Given the description of an element on the screen output the (x, y) to click on. 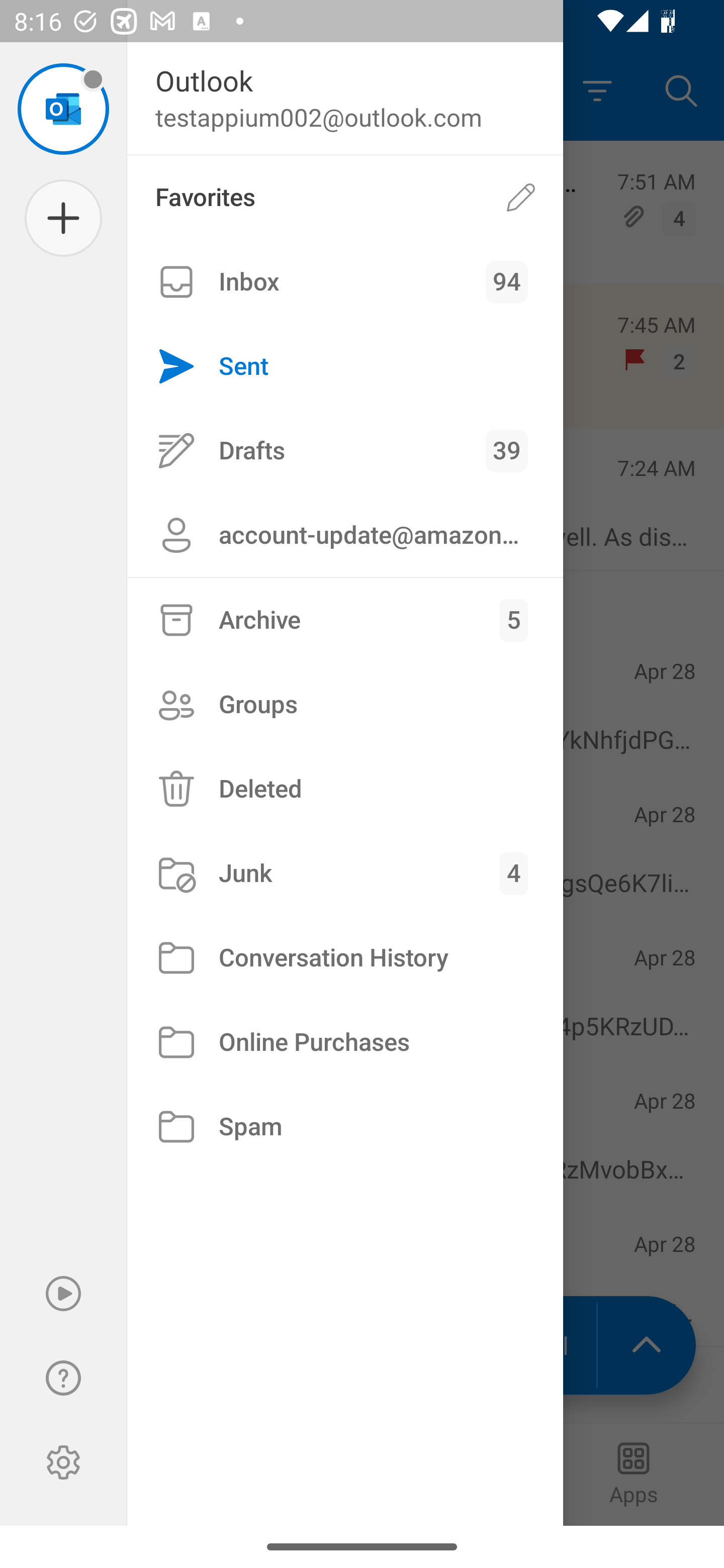
Edit favorites (520, 197)
Add account (63, 217)
Inbox Inbox, 94 unread emails (345, 281)
Sent Sent,Selected (345, 366)
Drafts Drafts, 39 unread emails (345, 450)
account-update@amazon.com (345, 534)
Archive Archive, 2 of 8, level 1, 5 unread emails (345, 619)
Groups Groups, 3 of 8, level 1 (345, 703)
Deleted Deleted, 4 of 8, level 1 (345, 788)
Junk Junk, 5 of 8, level 1, 4 unread emails (345, 873)
Online Purchases Online Purchases, 7 of 8, level 1 (345, 1042)
Spam Spam, 8 of 8, level 1 (345, 1127)
Play My Emails (62, 1293)
Help (62, 1377)
Settings (62, 1462)
